Given the description of an element on the screen output the (x, y) to click on. 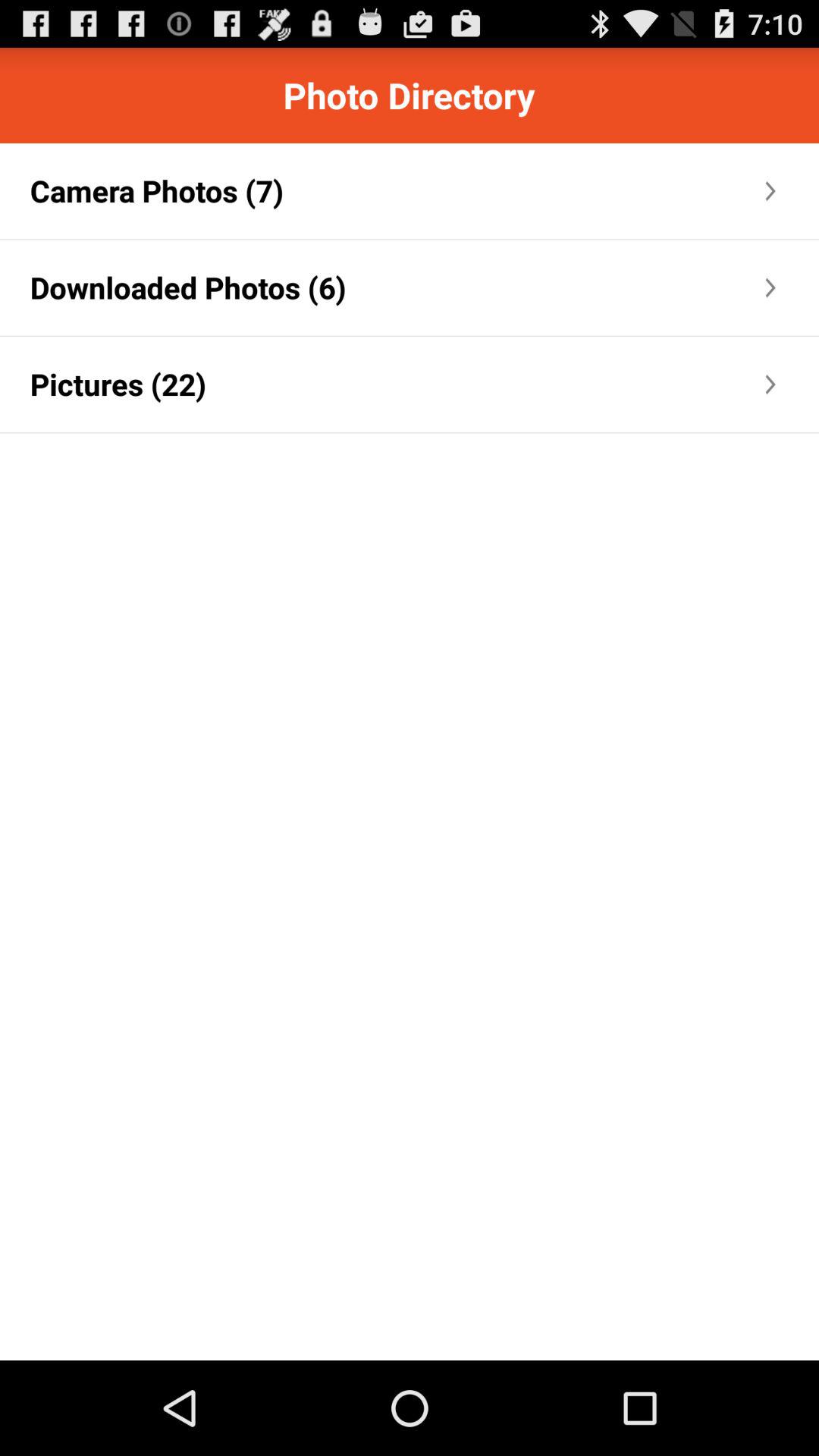
choose app to the right of pictures (22) item (484, 384)
